Given the description of an element on the screen output the (x, y) to click on. 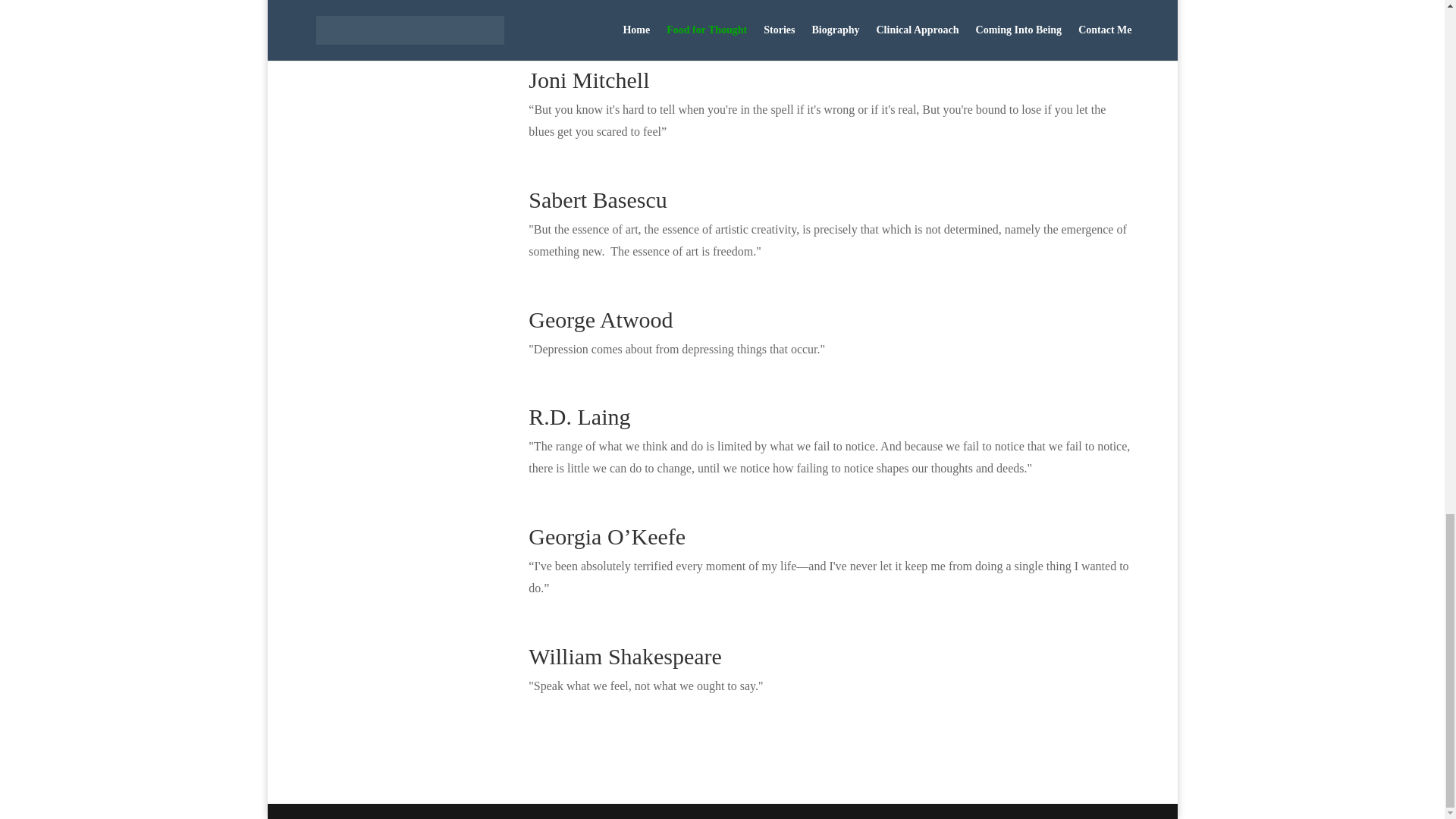
George Atwood (600, 319)
William Shakespeare (625, 656)
R.D. Laing (579, 416)
Joni Mitchell (588, 79)
Sabert Basescu (597, 199)
